Given the description of an element on the screen output the (x, y) to click on. 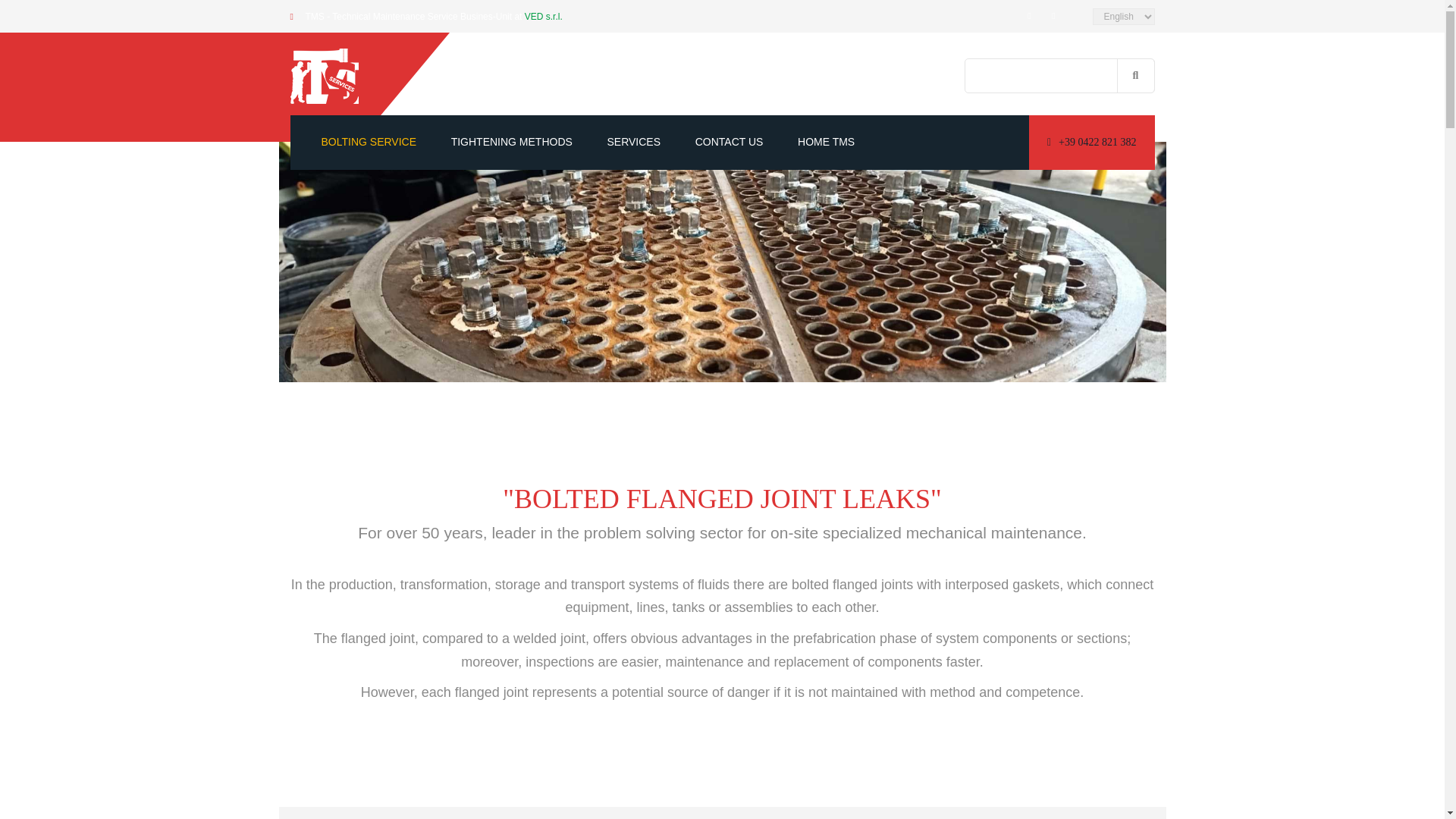
TMS - Technical Maintenance Service Busines-Unit at (414, 16)
Search (1135, 75)
TIGHTENING METHODS (511, 142)
Search (1135, 75)
SERVICES (634, 142)
CONTACT US (728, 142)
BOLTING SERVICE (368, 142)
HOME TMS (825, 142)
VED s.r.l. (543, 16)
